Given the description of an element on the screen output the (x, y) to click on. 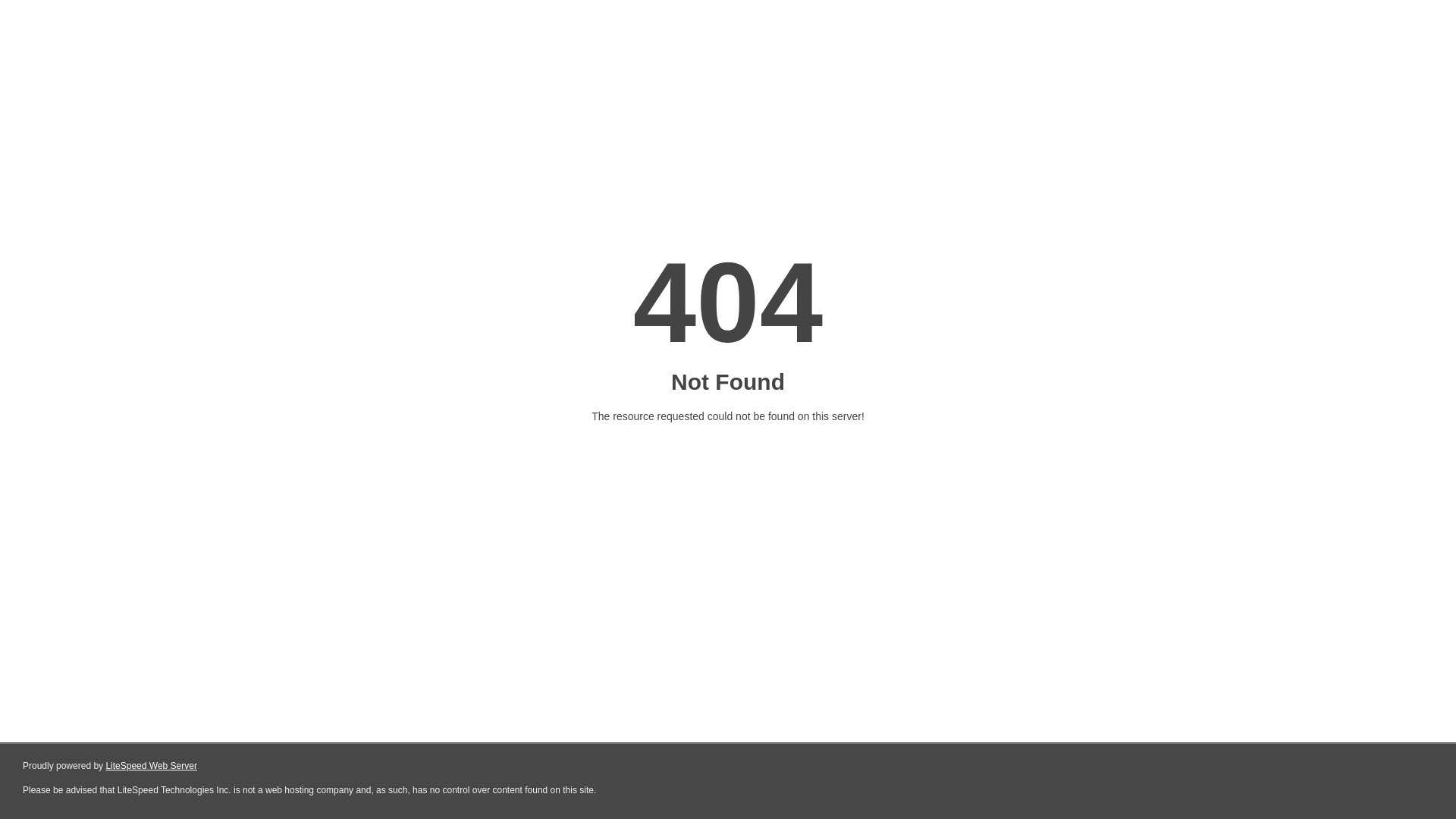
LiteSpeed Web Server Element type: text (151, 765)
